Given the description of an element on the screen output the (x, y) to click on. 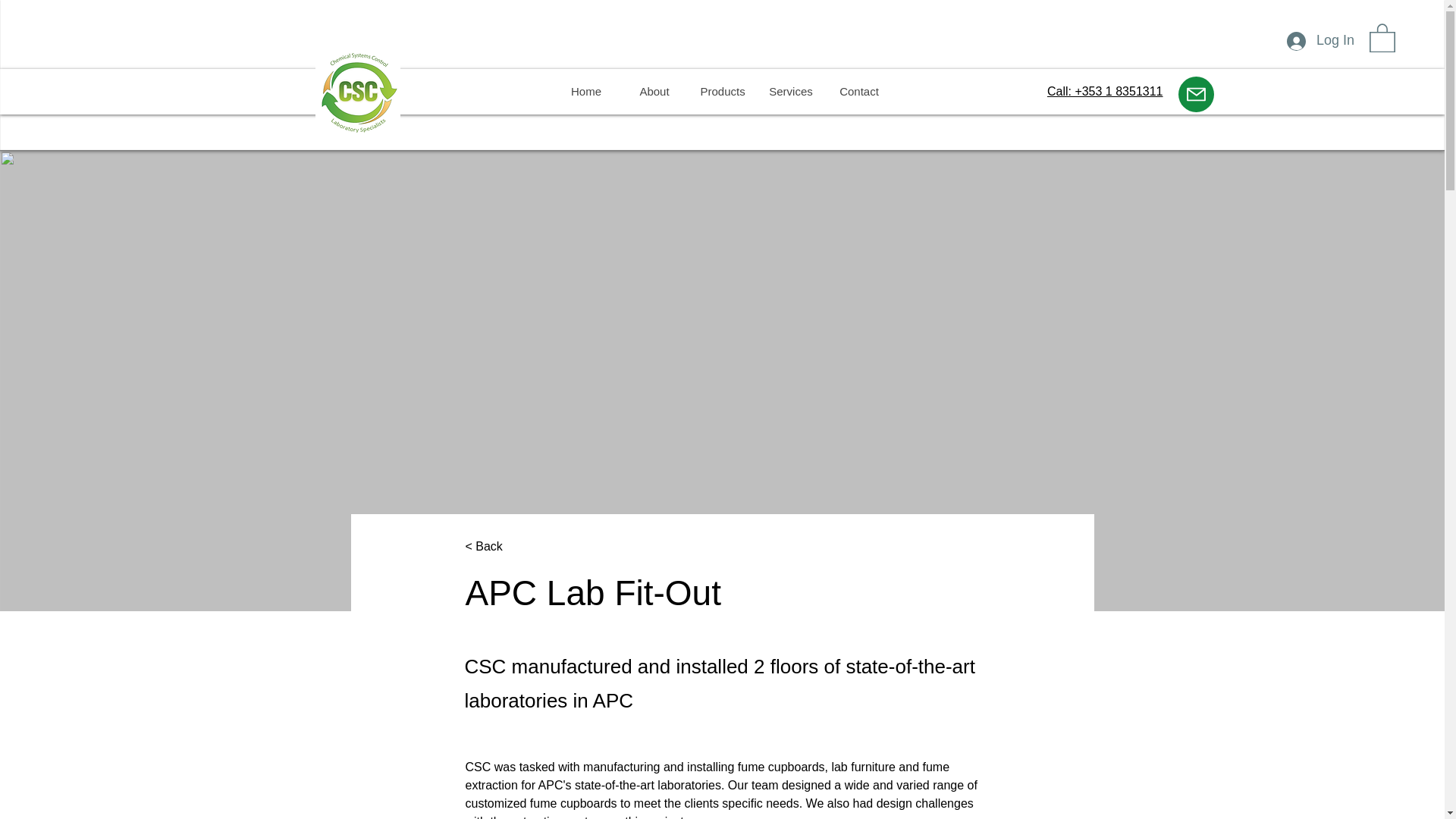
Products (722, 91)
About (654, 91)
Services (791, 91)
Contact (859, 91)
Log In (1320, 40)
Home (585, 91)
